Given the description of an element on the screen output the (x, y) to click on. 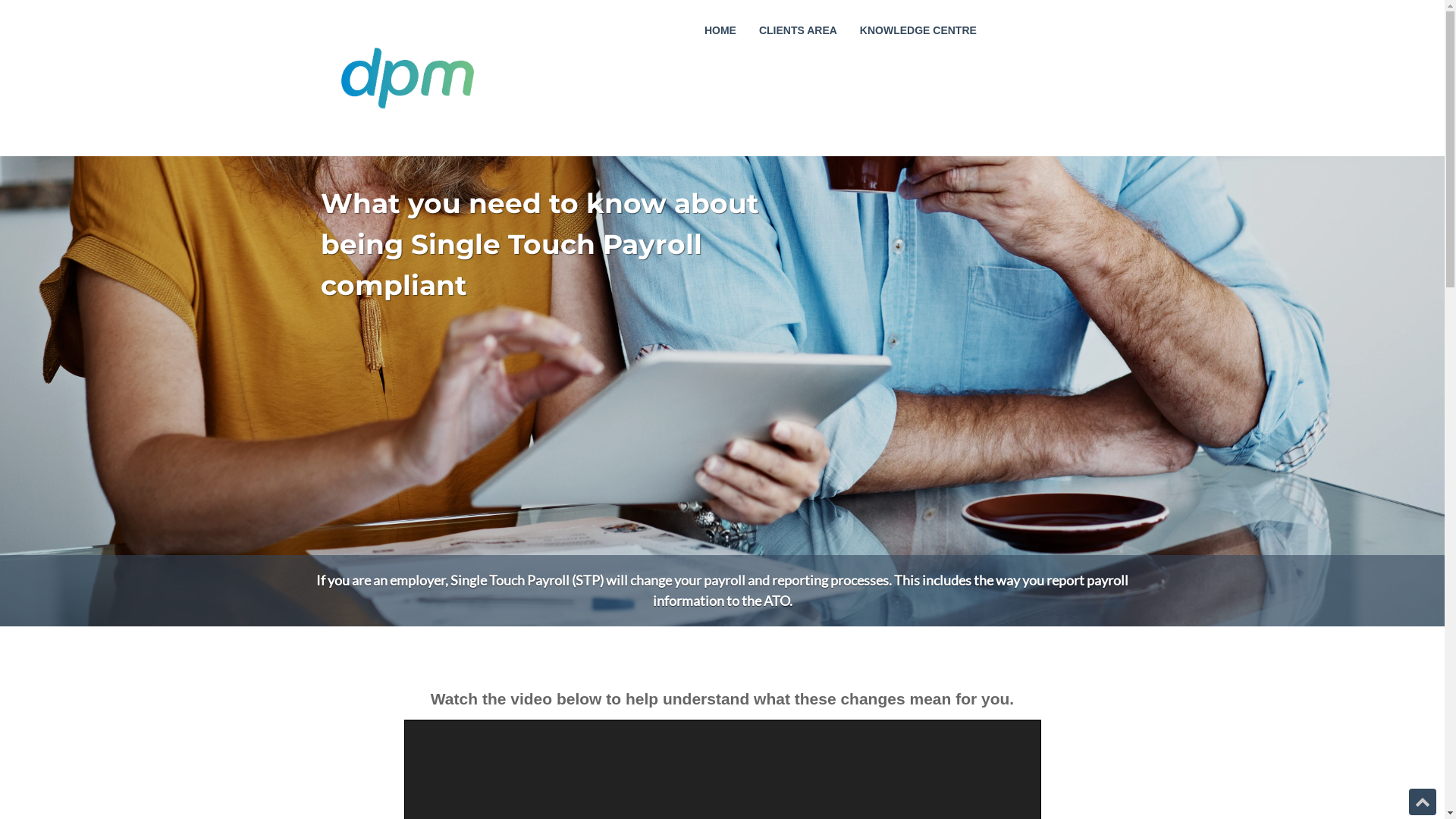
DPM Logo Element type: hover (406, 78)
HOME Element type: text (719, 30)
KNOWLEDGE CENTRE Element type: text (918, 30)
CLIENTS AREA Element type: text (797, 30)
